Given the description of an element on the screen output the (x, y) to click on. 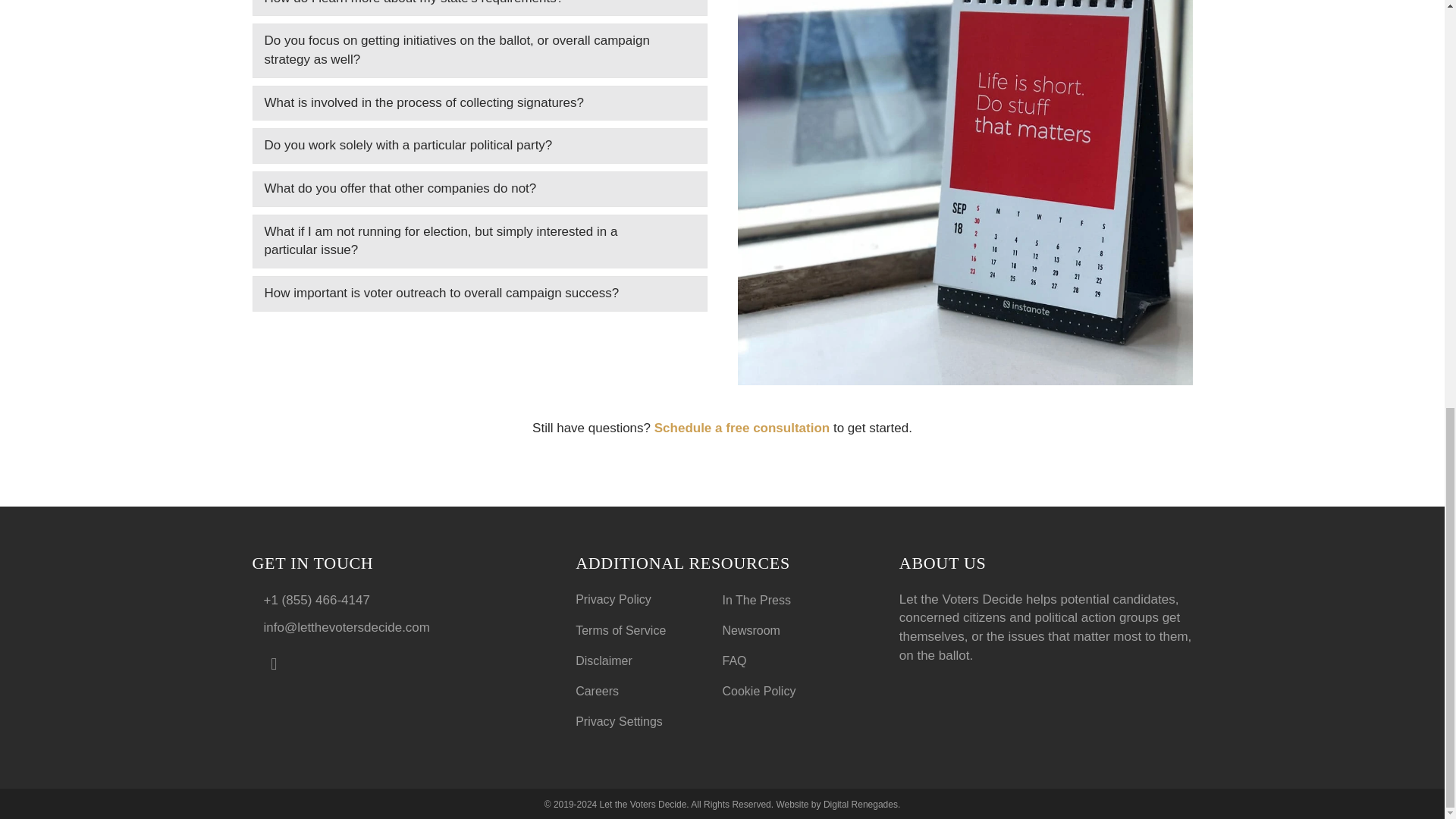
Expand (682, 103)
Expand (682, 189)
Do you work solely with a particular political party? (467, 145)
How important is voter outreach to overall campaign success? (467, 293)
What do you offer that other companies do not? (467, 189)
What is involved in the process of collecting signatures? (467, 103)
Expand (682, 145)
